Given the description of an element on the screen output the (x, y) to click on. 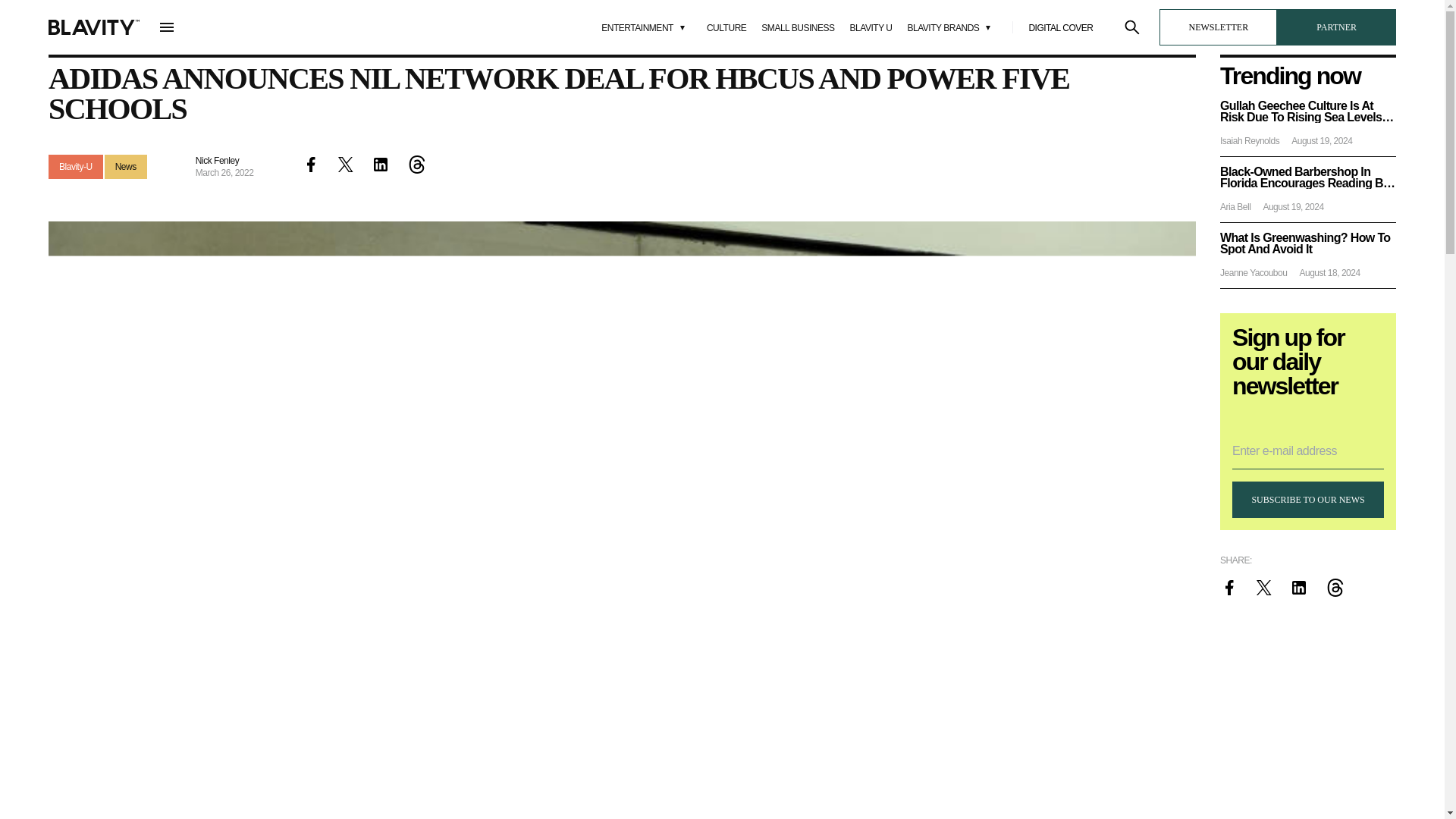
DIGITAL COVER (1060, 28)
BLAVITY U (871, 28)
ENTERTAINMENT (646, 27)
CULTURE (725, 28)
Blavity News logo (93, 27)
subscribe to our news (1307, 499)
PARTNER (1336, 27)
send (253, 533)
SMALL BUSINESS (797, 28)
BLAVITY BRANDS (952, 27)
